Given the description of an element on the screen output the (x, y) to click on. 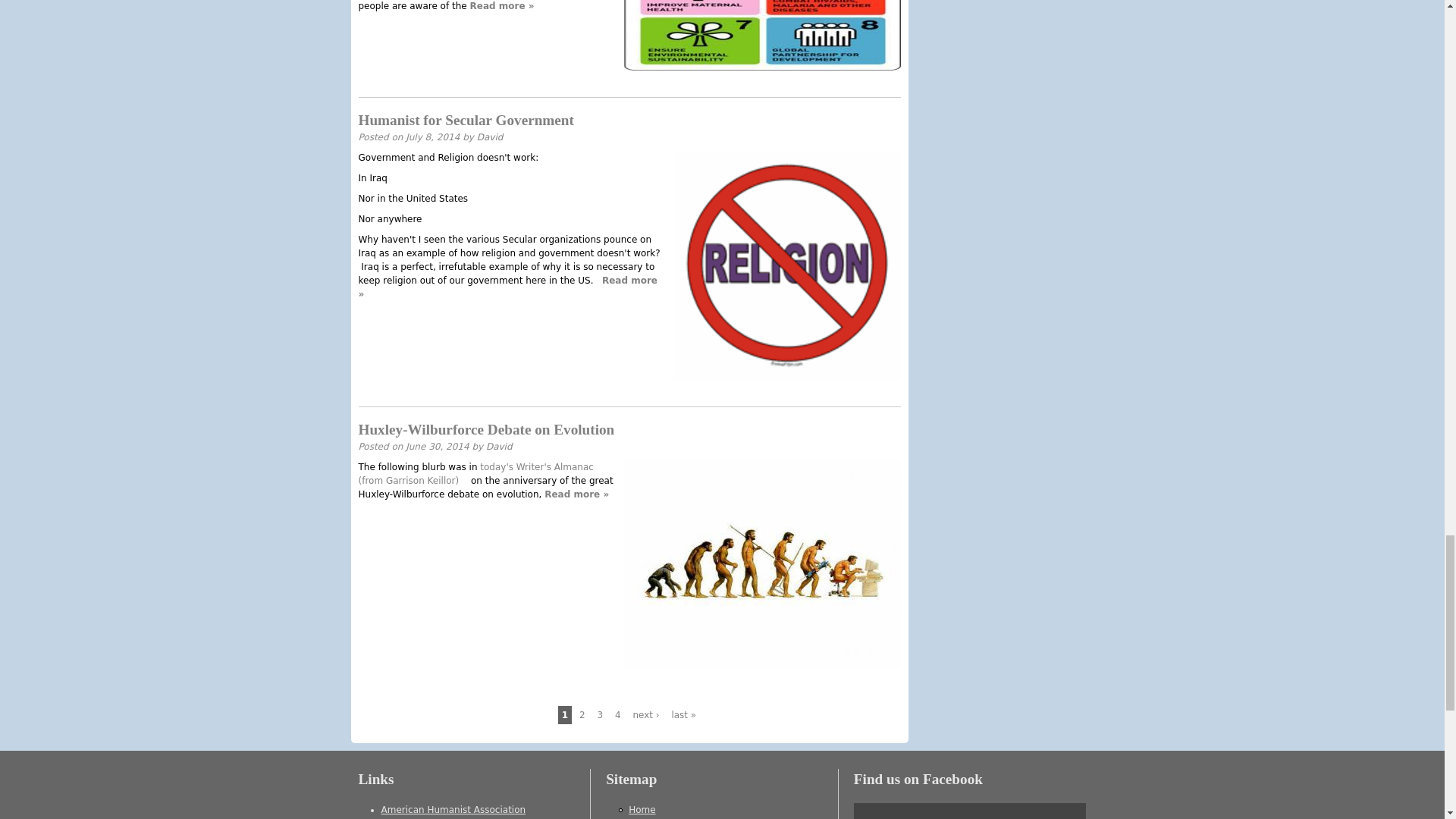
Millennium Development Goals (761, 35)
